Given the description of an element on the screen output the (x, y) to click on. 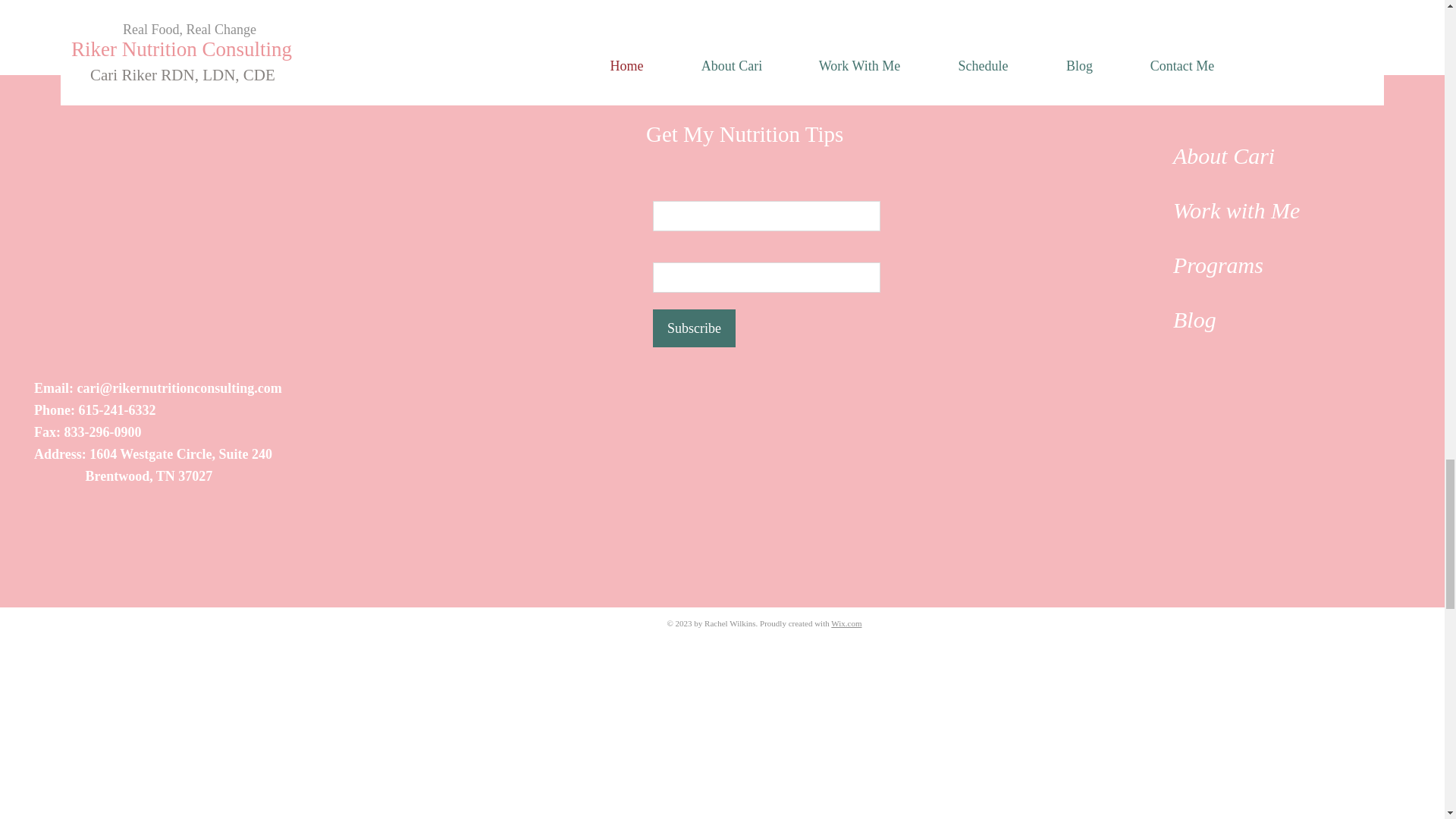
Wix.com (846, 623)
About Cari (1224, 155)
Programs (1218, 264)
Work with Me (1236, 210)
Subscribe (693, 328)
